Given the description of an element on the screen output the (x, y) to click on. 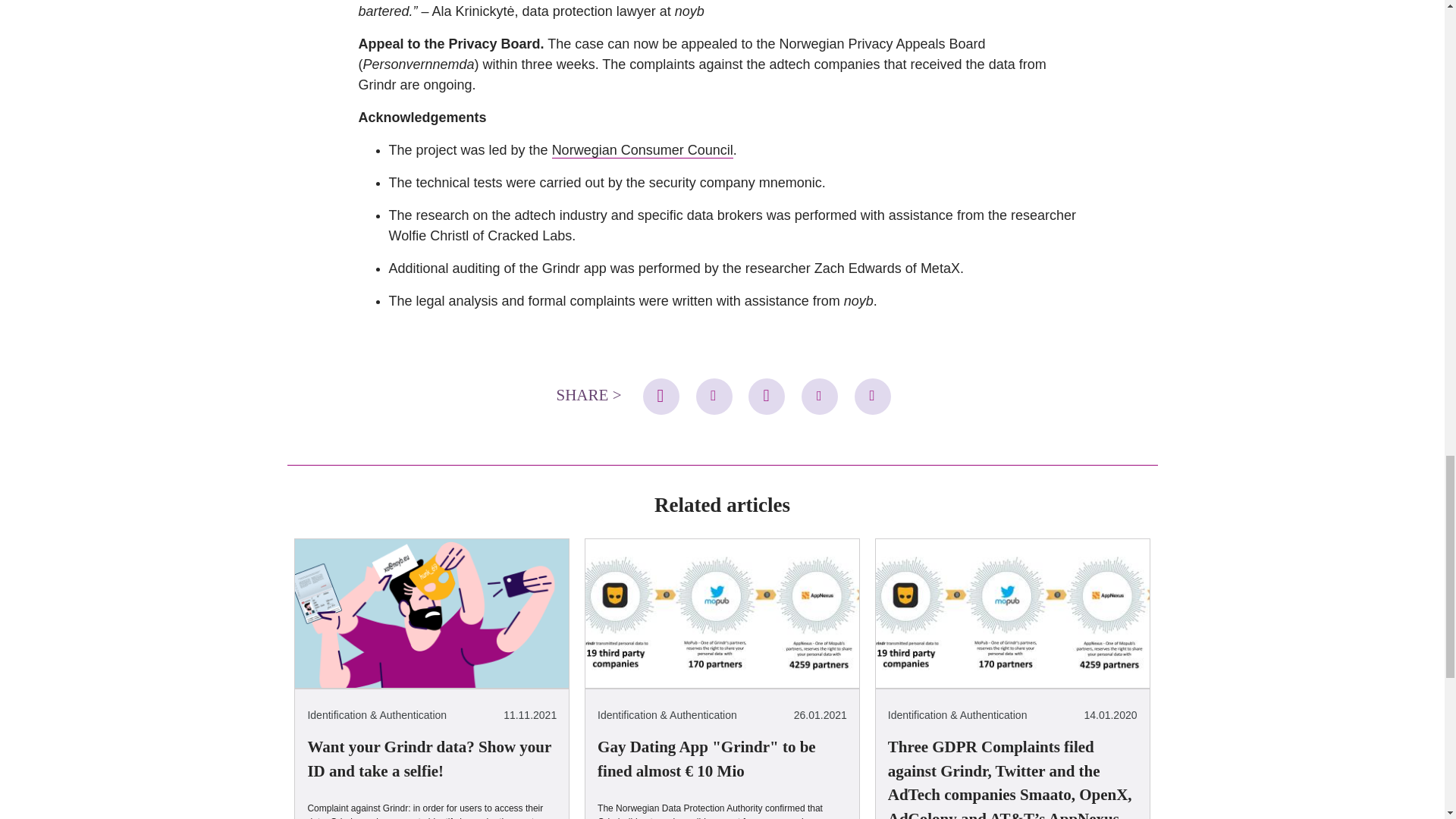
Share on LinkedIn (872, 396)
Send by email (820, 396)
Share on Whatsapp (766, 396)
Share on Facebook (713, 396)
Share on Twitter (661, 396)
